Given the description of an element on the screen output the (x, y) to click on. 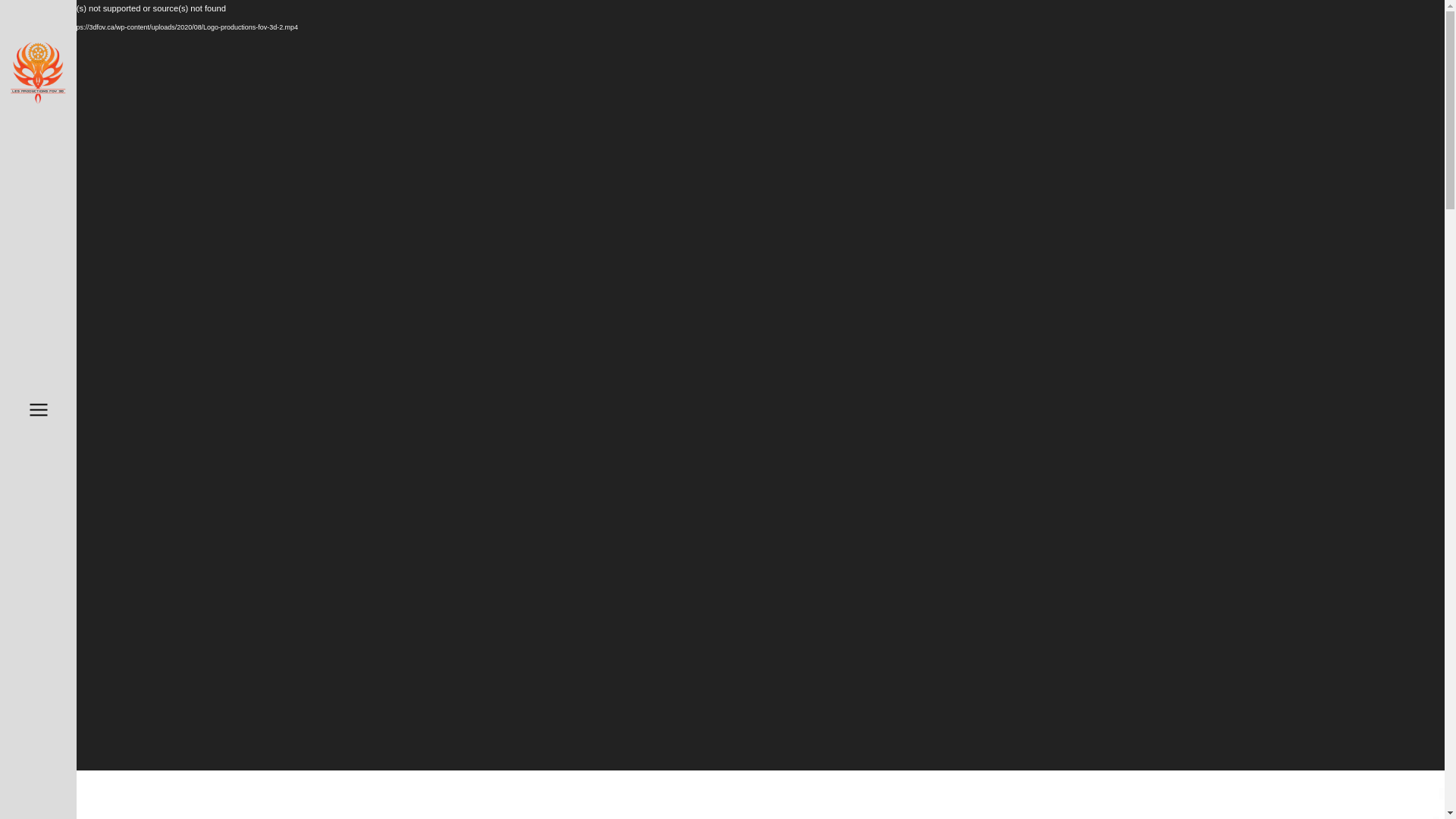
Favicon Element type: hover (37, 71)
Services Element type: text (159, 224)
info@3dfov.ca Element type: text (138, 413)
873 664-3400 Element type: text (137, 382)
Contact Element type: text (159, 255)
ventes@3dfov.ca Element type: text (139, 432)
Accueil Element type: text (159, 161)
